Given the description of an element on the screen output the (x, y) to click on. 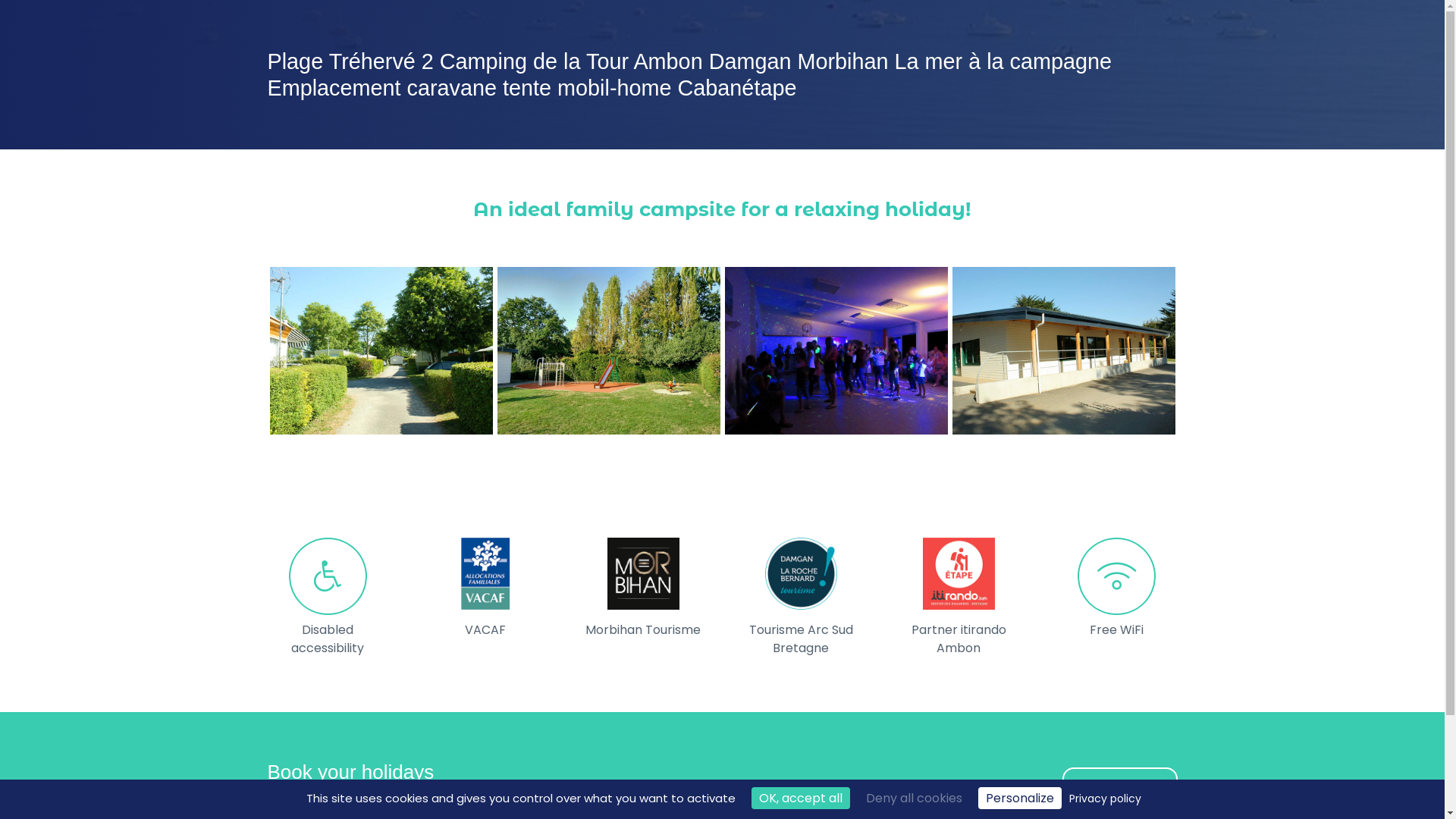
OK, accept all Element type: text (800, 798)
Privacy policy Element type: text (1104, 798)
Personalize Element type: text (1019, 798)
Deny all cookies Element type: text (913, 798)
Partner itirando Ambon Element type: text (958, 639)
Free WiFi Element type: text (1115, 630)
Disabled accessibility Element type: text (327, 639)
VACAF Element type: text (485, 630)
Tourisme Arc Sud Bretagne Element type: text (800, 639)
BOOKING Element type: text (1119, 786)
Morbihan Tourisme Element type: text (642, 630)
